Given the description of an element on the screen output the (x, y) to click on. 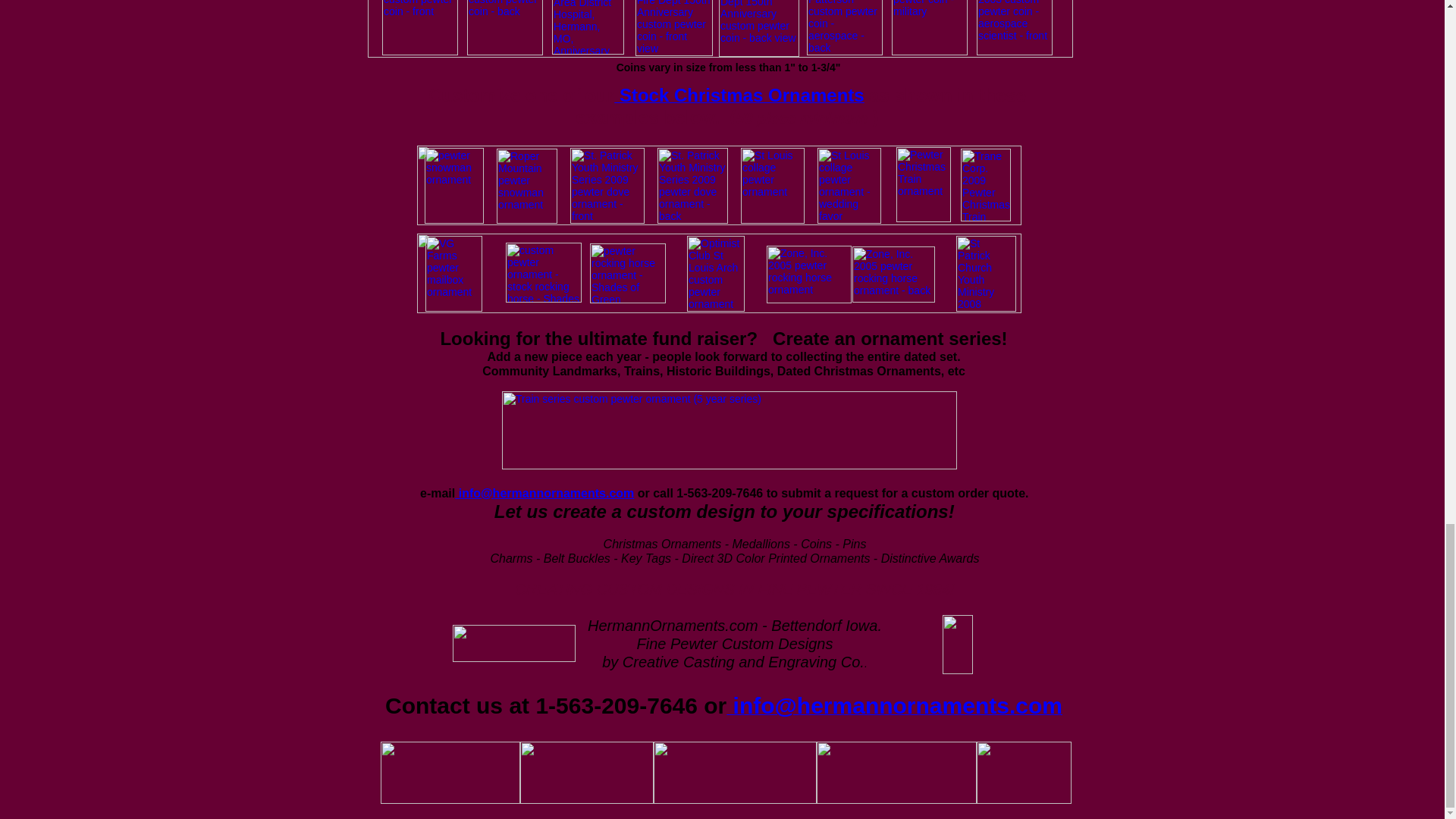
Stock Christmas Ornaments (738, 97)
